Given the description of an element on the screen output the (x, y) to click on. 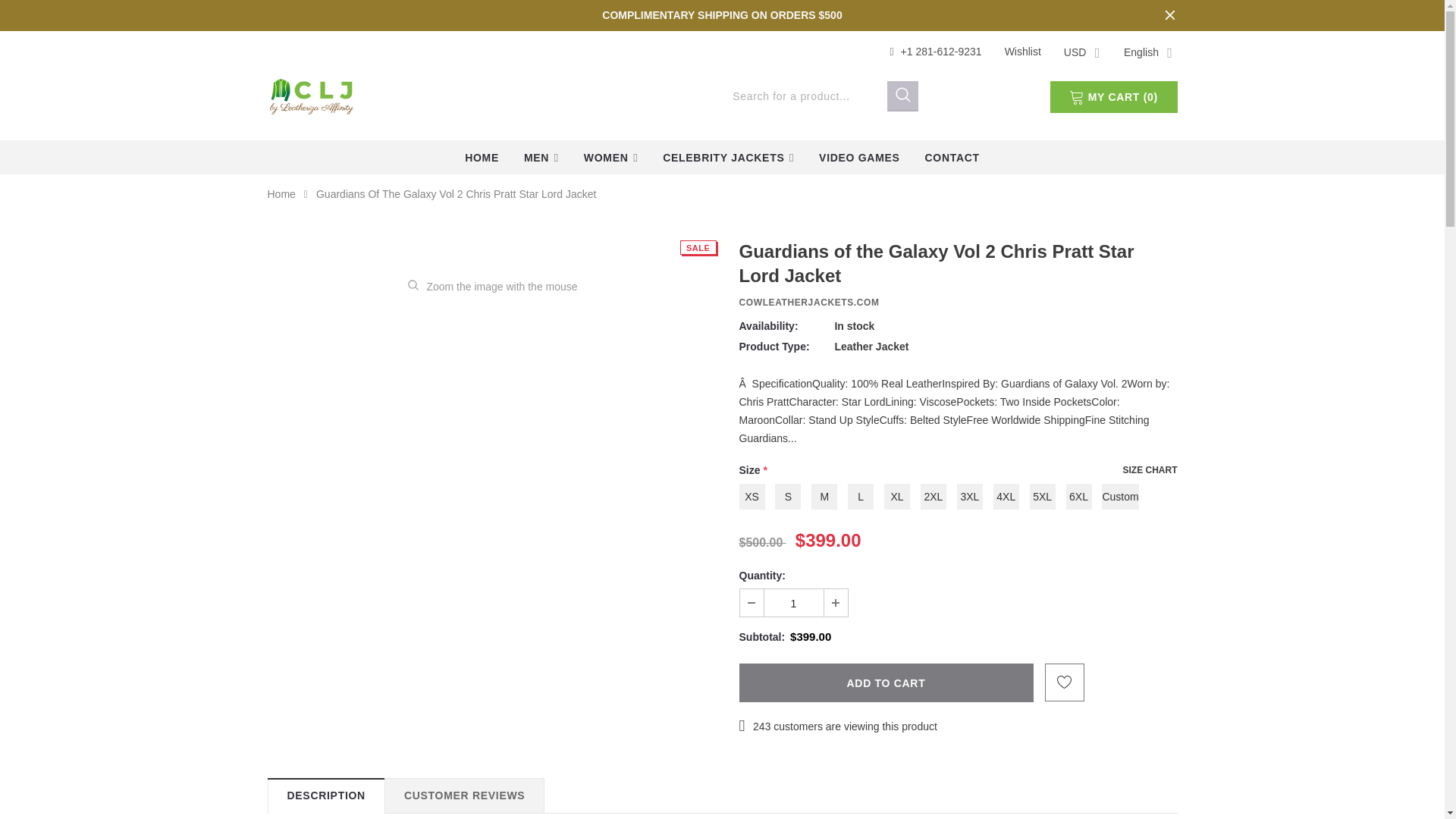
 Wishlist (1022, 51)
Logo (310, 94)
1 (794, 602)
close (1168, 14)
MEN (541, 157)
Wishlist (1022, 51)
HOME (481, 157)
Add to Cart (885, 682)
